Given the description of an element on the screen output the (x, y) to click on. 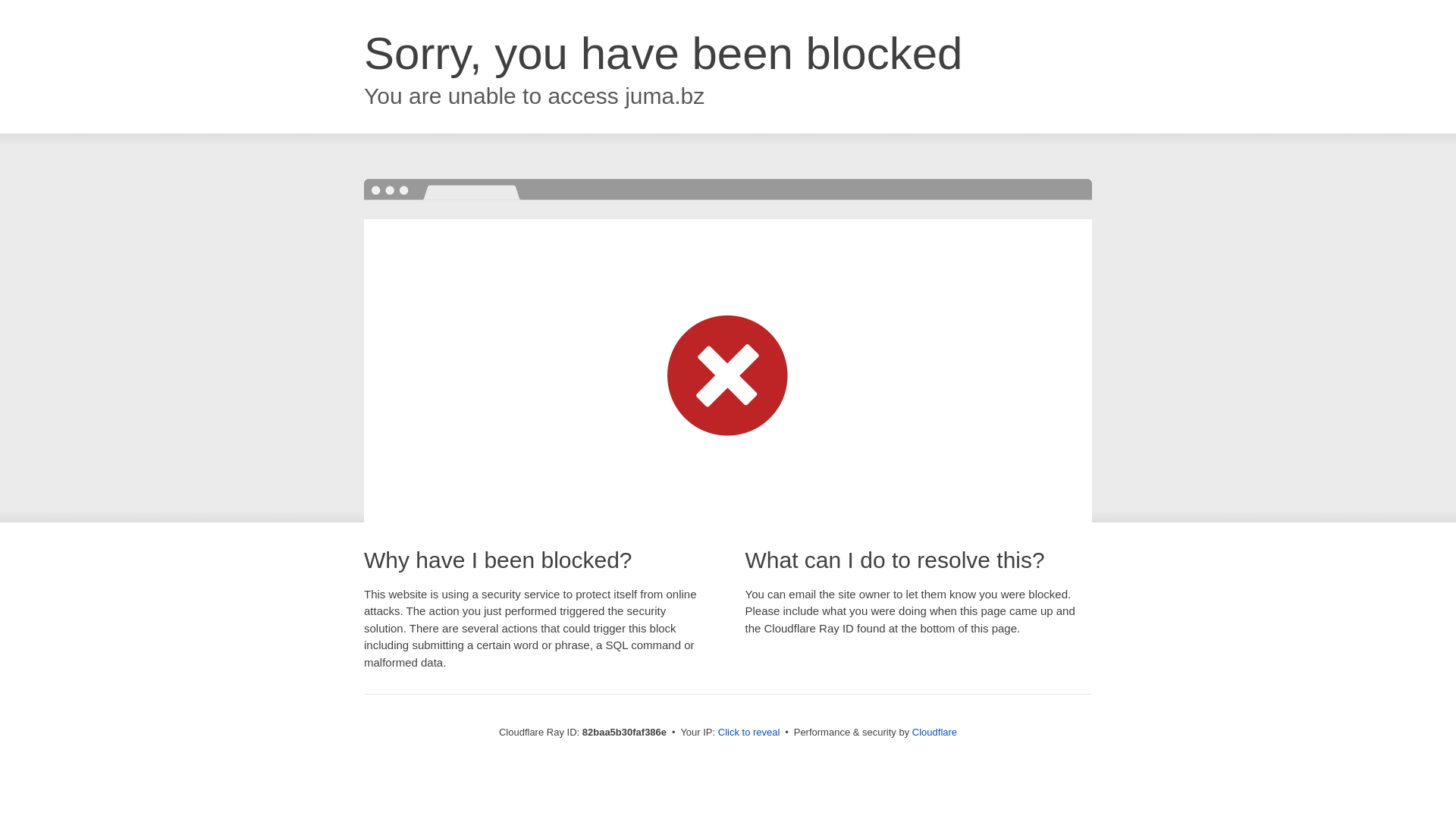
Click to reveal Element type: text (749, 732)
Cloudflare Element type: text (934, 731)
